Given the description of an element on the screen output the (x, y) to click on. 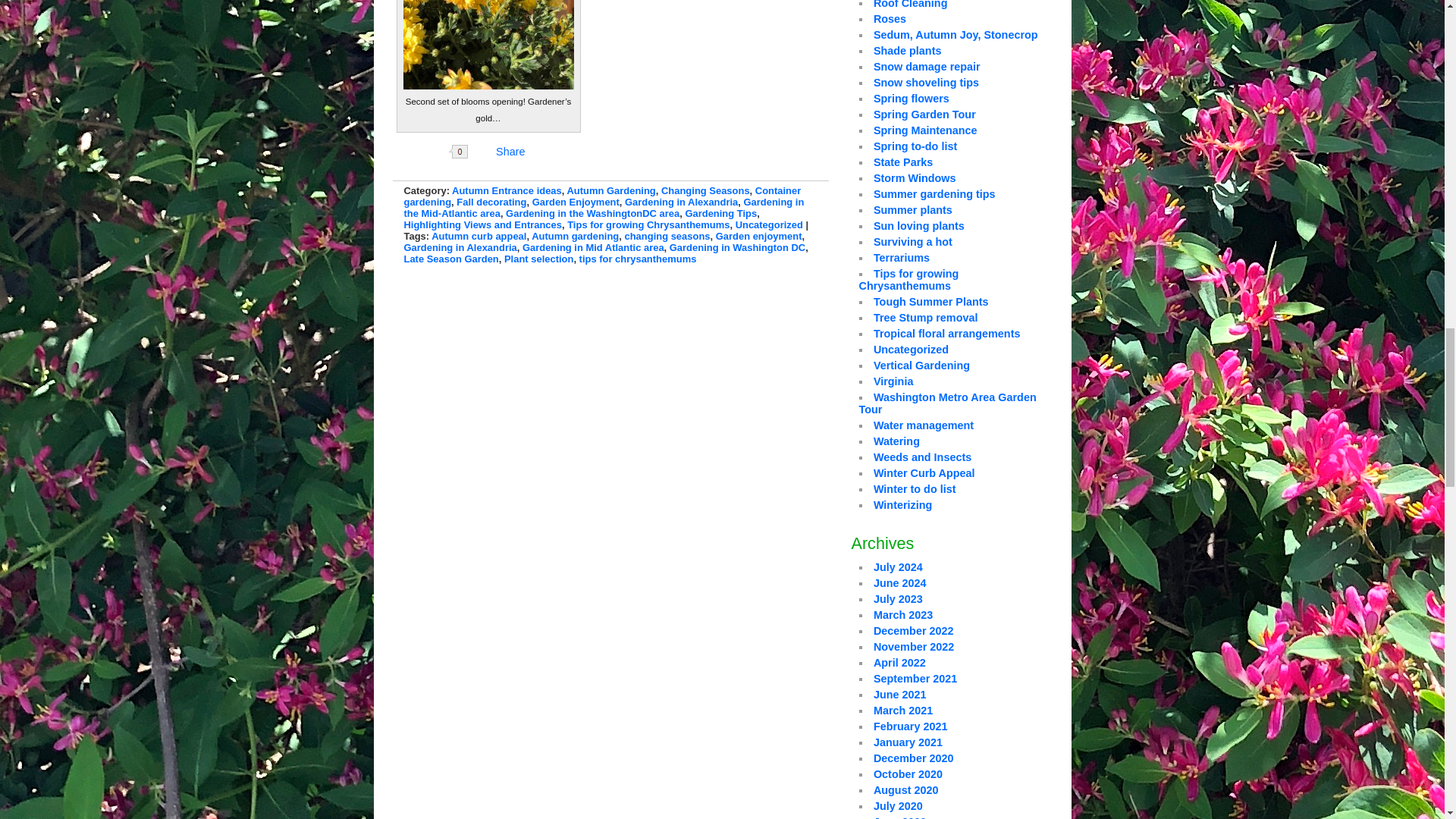
Tips for growing Chrysanthemums (648, 224)
Container gardening (601, 196)
Uncategorized (769, 224)
Autumn Entrance ideas (506, 190)
Autumn curb appeal (477, 235)
Garden Enjoyment (576, 202)
Gardening Tips (720, 213)
Gardening in the WashingtonDC area (592, 213)
Gardening in Alexandria (681, 202)
changing seasons (667, 235)
Changing Seasons (705, 190)
Highlighting Views and Entrances (481, 224)
Autumn gardening (574, 235)
Fall decorating (491, 202)
Autumn Gardening (610, 190)
